Given the description of an element on the screen output the (x, y) to click on. 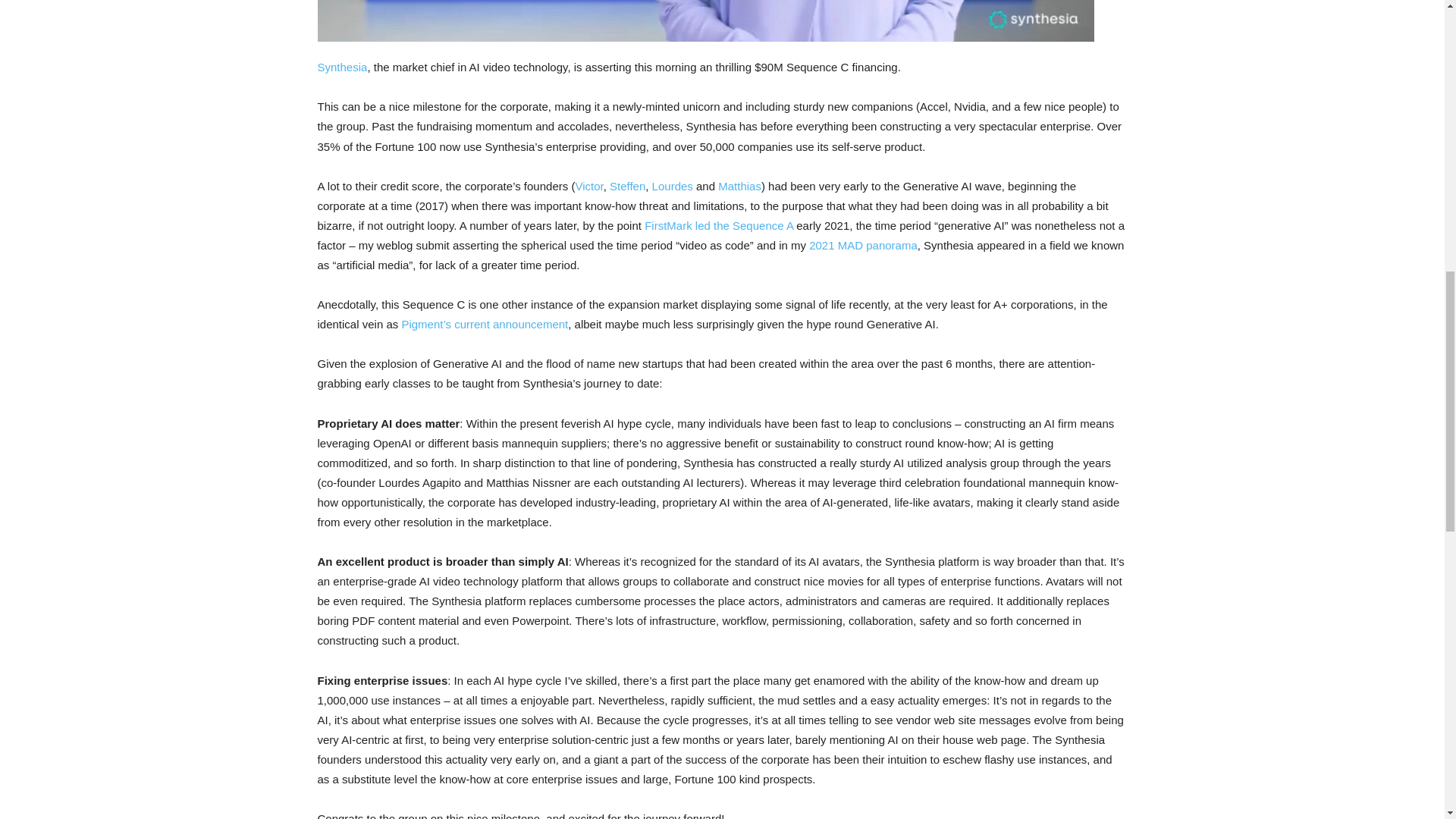
2021 MAD panorama (863, 245)
Synthesia (341, 66)
Steffen (627, 185)
Lourdes (672, 185)
FirstMark led the Sequence A (720, 225)
Matthias (739, 185)
Victor (588, 185)
